Given the description of an element on the screen output the (x, y) to click on. 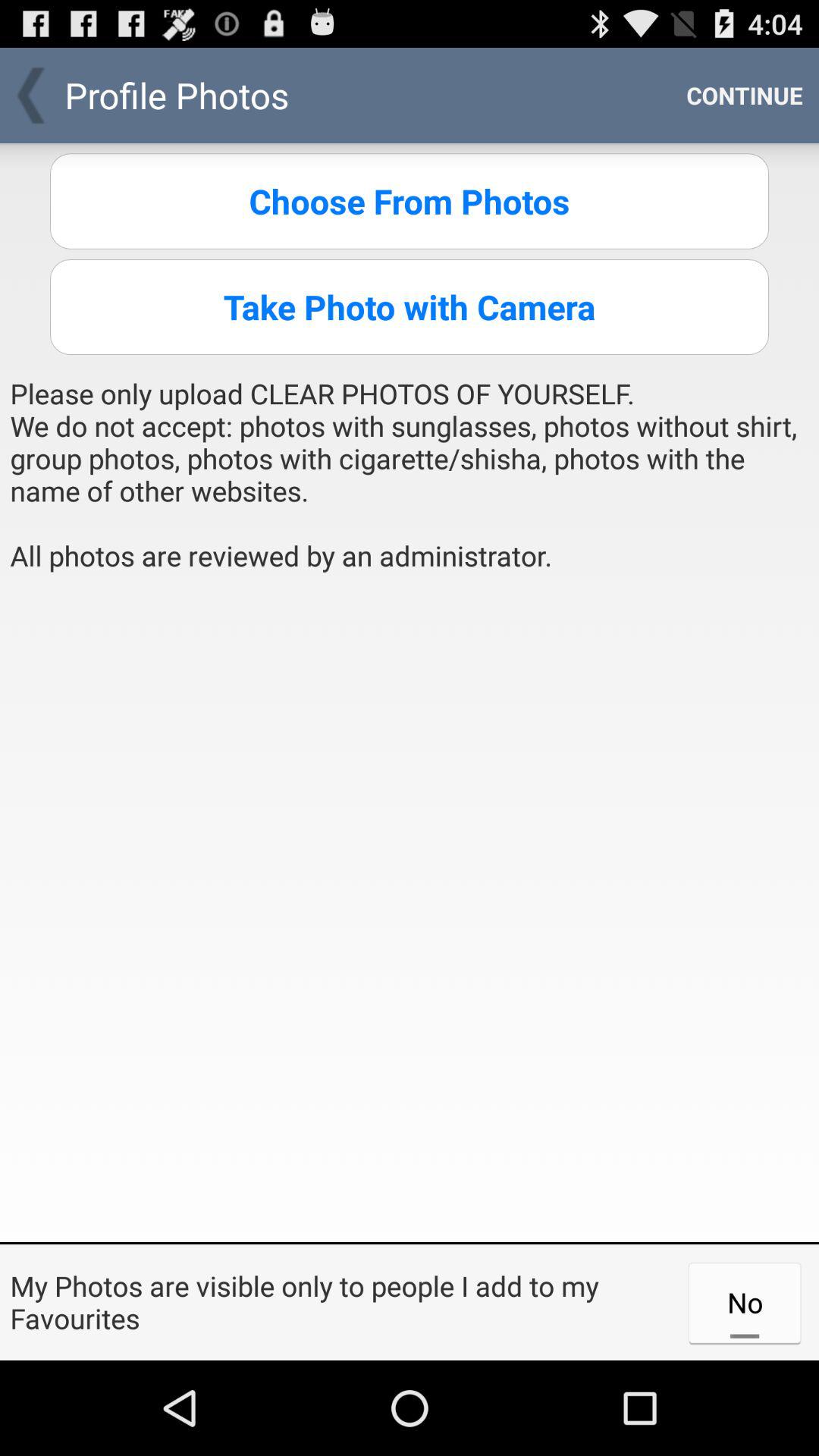
tap the no at the bottom right corner (744, 1302)
